Given the description of an element on the screen output the (x, y) to click on. 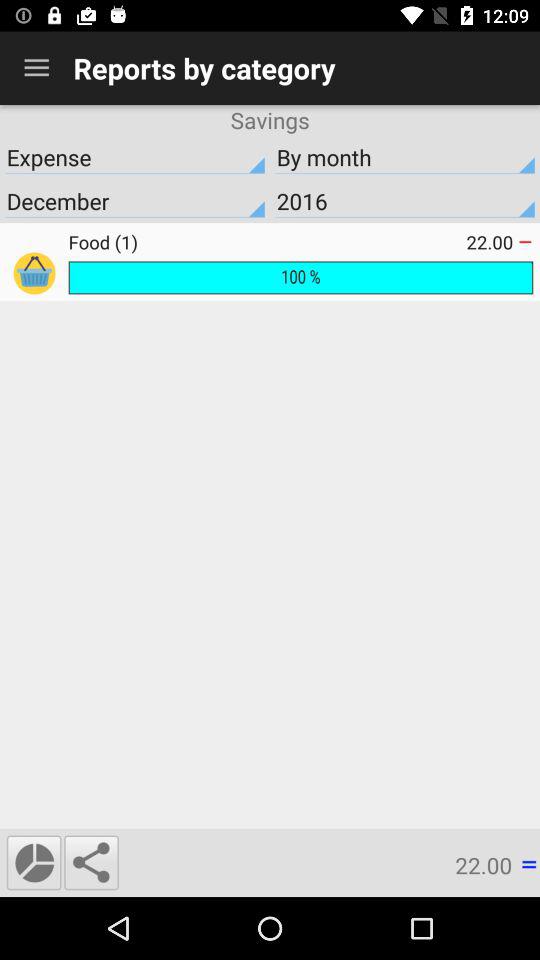
swipe to the food (1) icon (267, 241)
